Given the description of an element on the screen output the (x, y) to click on. 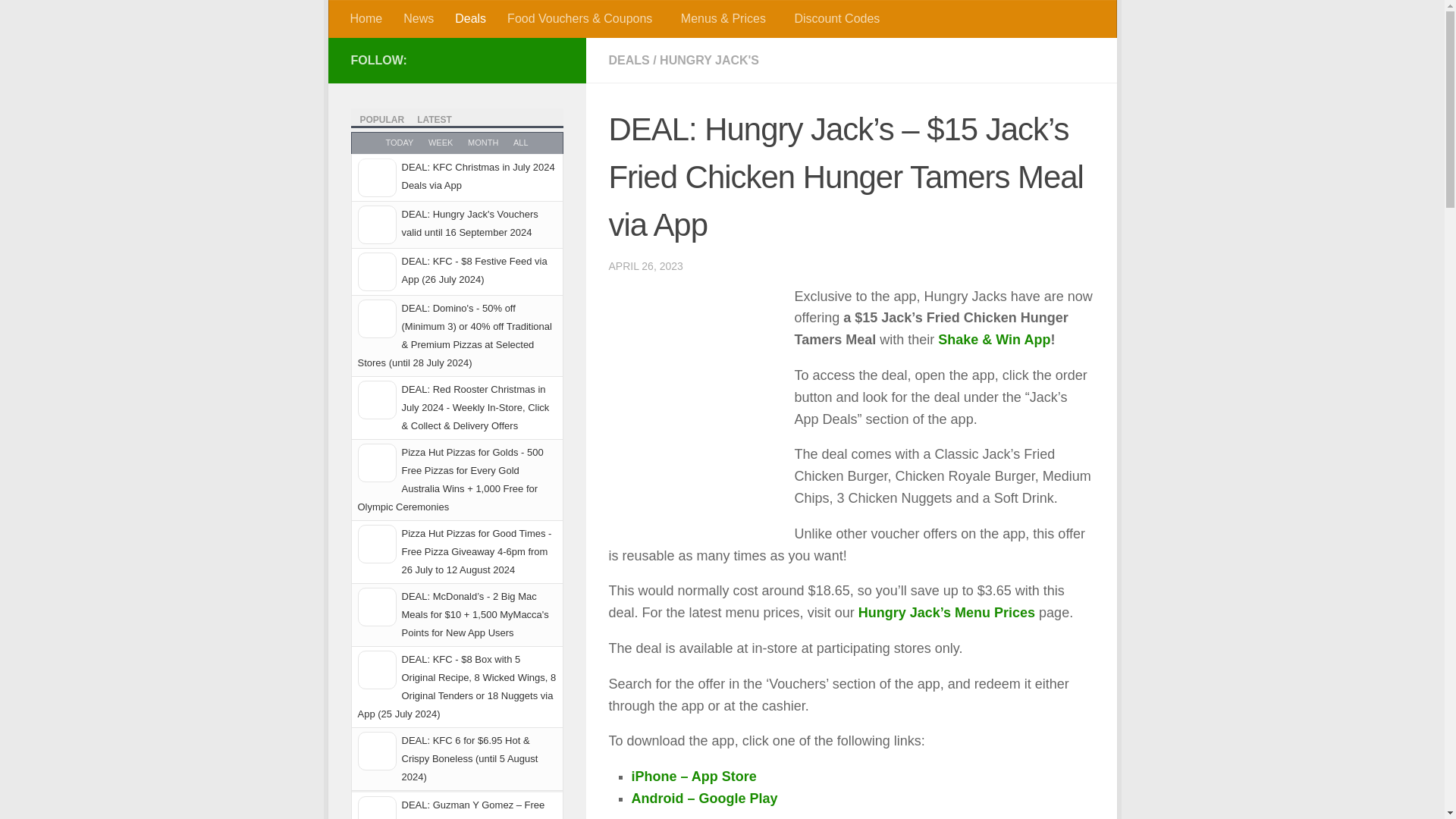
Skip to content (391, 20)
